Given the description of an element on the screen output the (x, y) to click on. 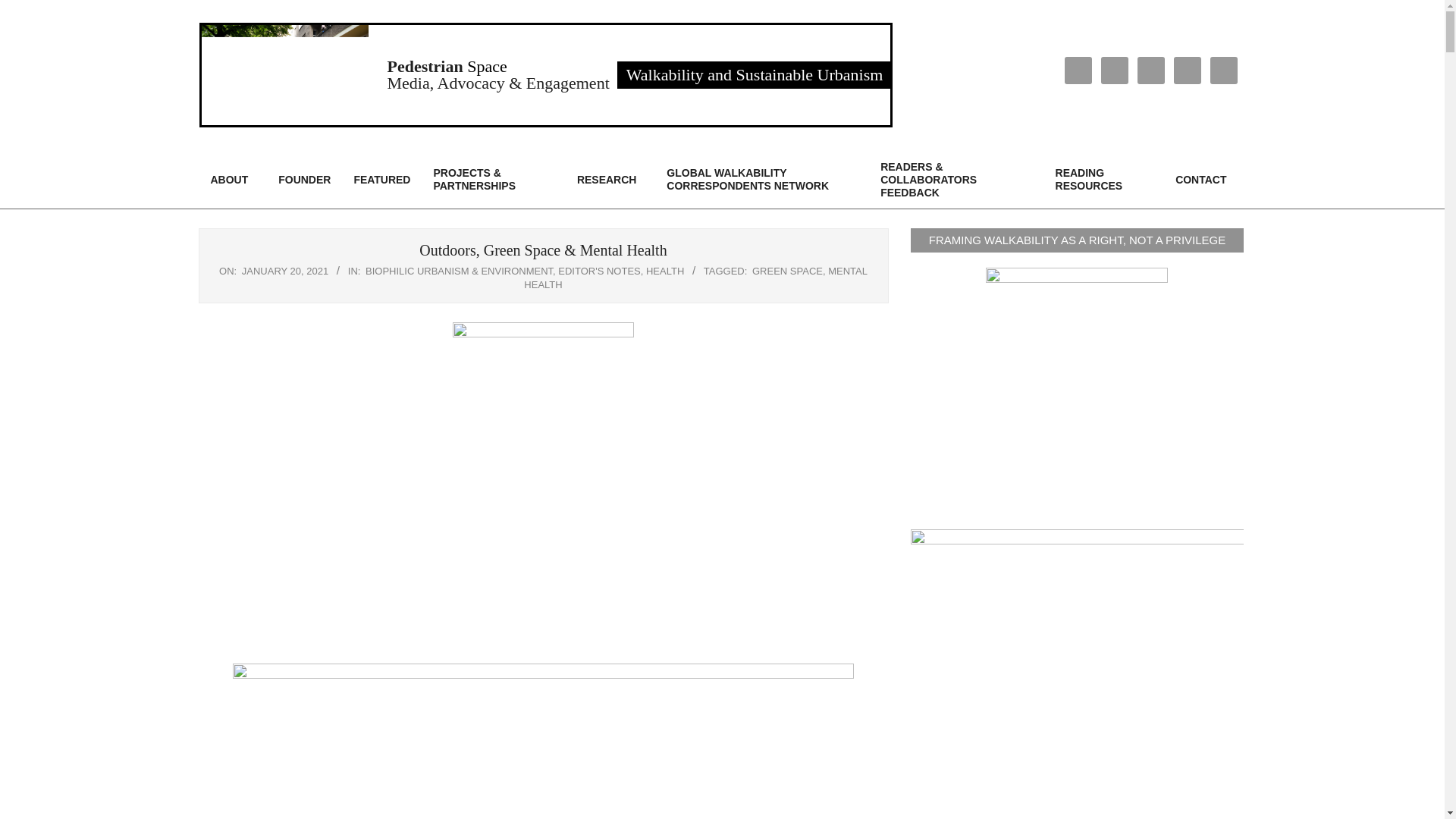
Email (1078, 70)
Instagram (1114, 70)
LinkedIn (1149, 69)
LinkedIn (1150, 70)
FOUNDER (304, 179)
FEATURED (382, 179)
Twitter (1186, 69)
READING RESOURCES (1103, 179)
MENTAL HEALTH (695, 277)
YouTube (1222, 69)
